Given the description of an element on the screen output the (x, y) to click on. 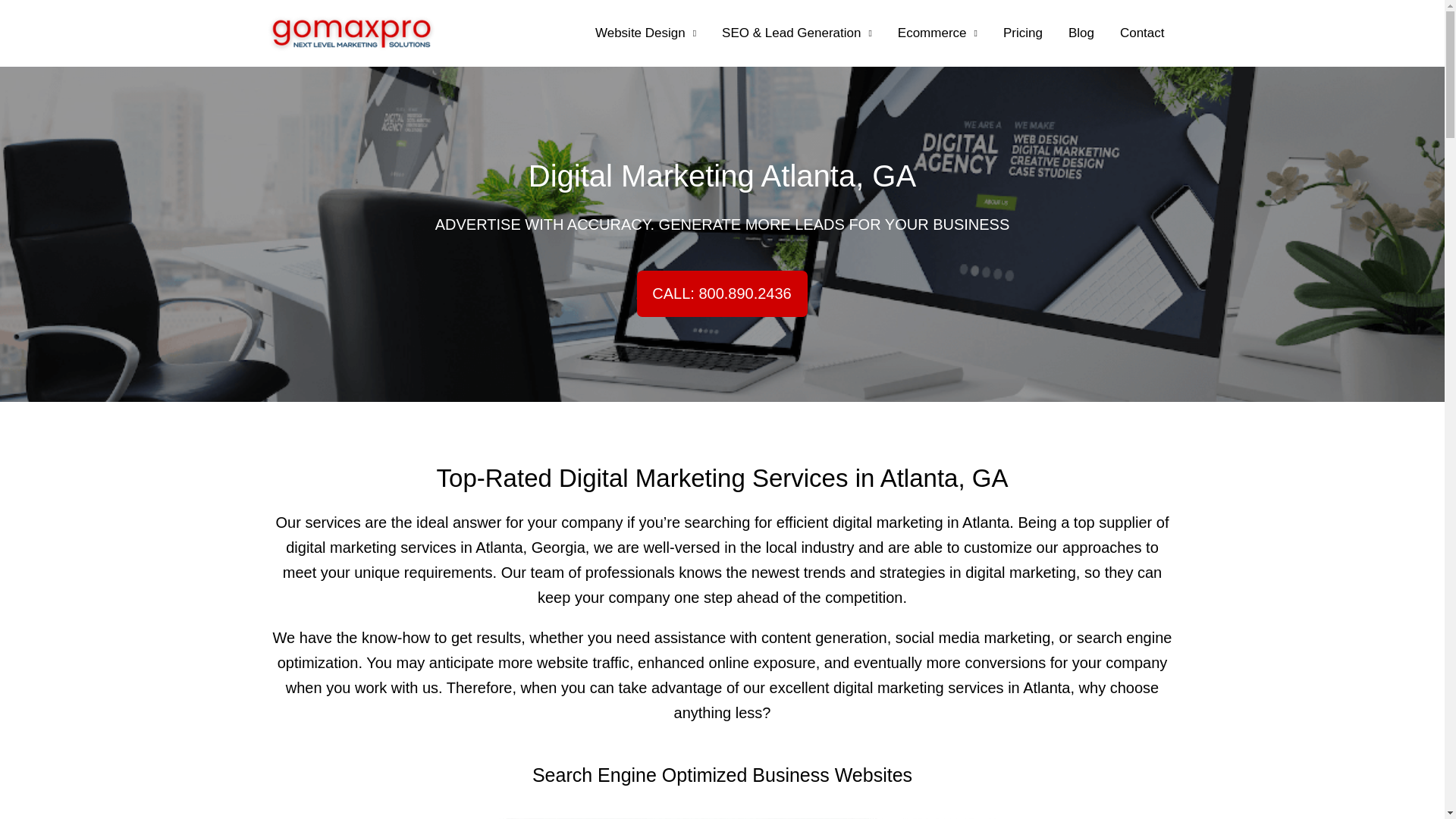
Ecommerce (937, 32)
Website Design (645, 32)
CALL: 800.890.2436 (722, 293)
Blog (1080, 32)
Contact (1141, 32)
Pricing (1022, 32)
